Given the description of an element on the screen output the (x, y) to click on. 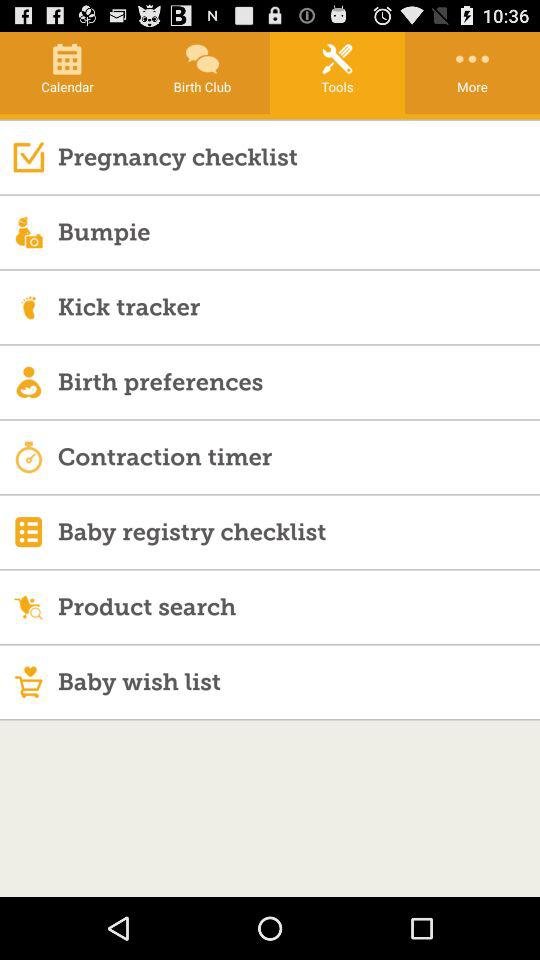
tap pregnancy checklist (298, 156)
